Given the description of an element on the screen output the (x, y) to click on. 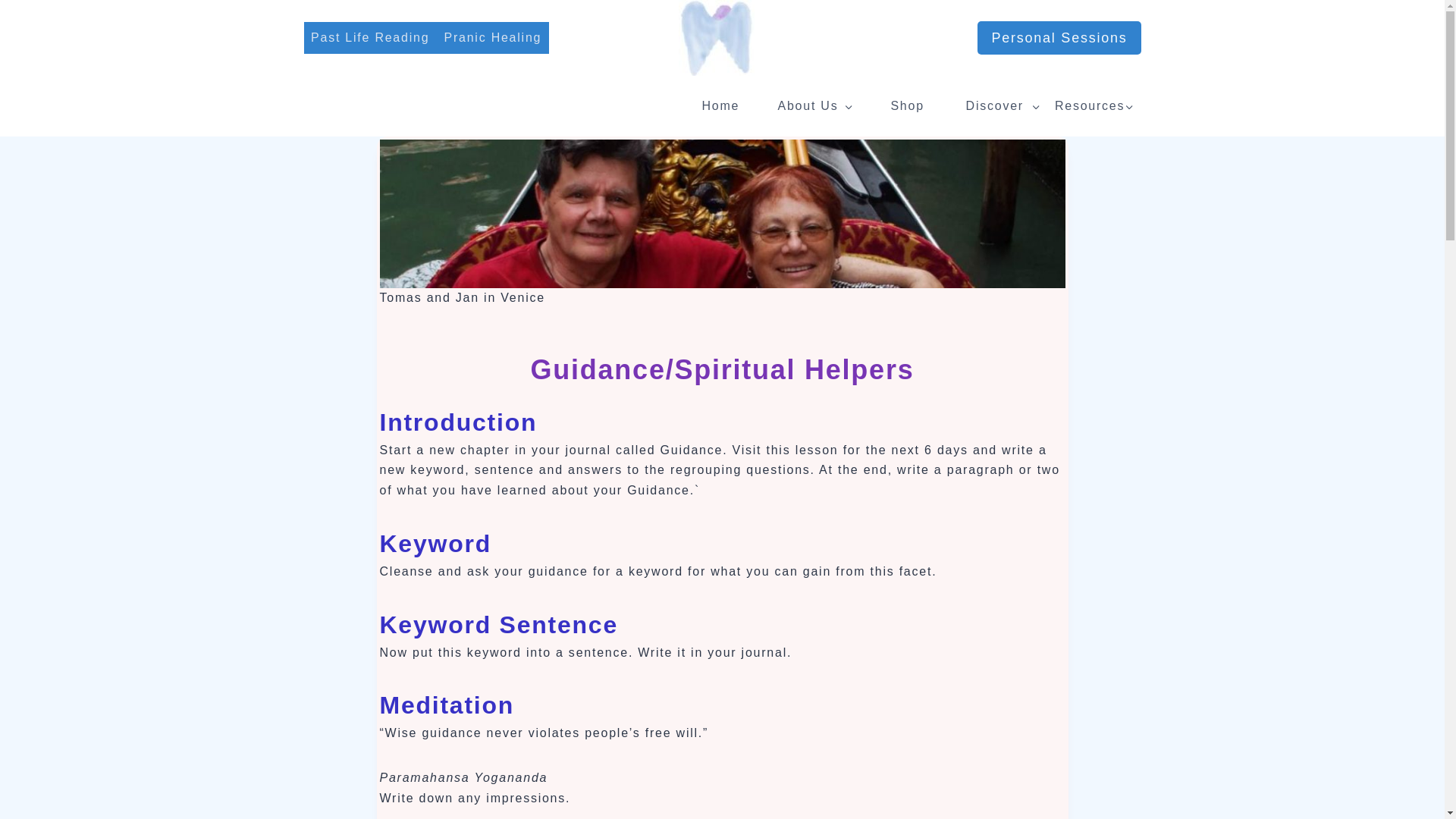
Shop (906, 105)
About Us (813, 105)
Home (720, 105)
Discover (999, 105)
Resources (1093, 105)
Profiles and Courses (906, 105)
Pranic Healing (492, 37)
Past Life Reading (368, 37)
Personal Sessions (1058, 37)
